Given the description of an element on the screen output the (x, y) to click on. 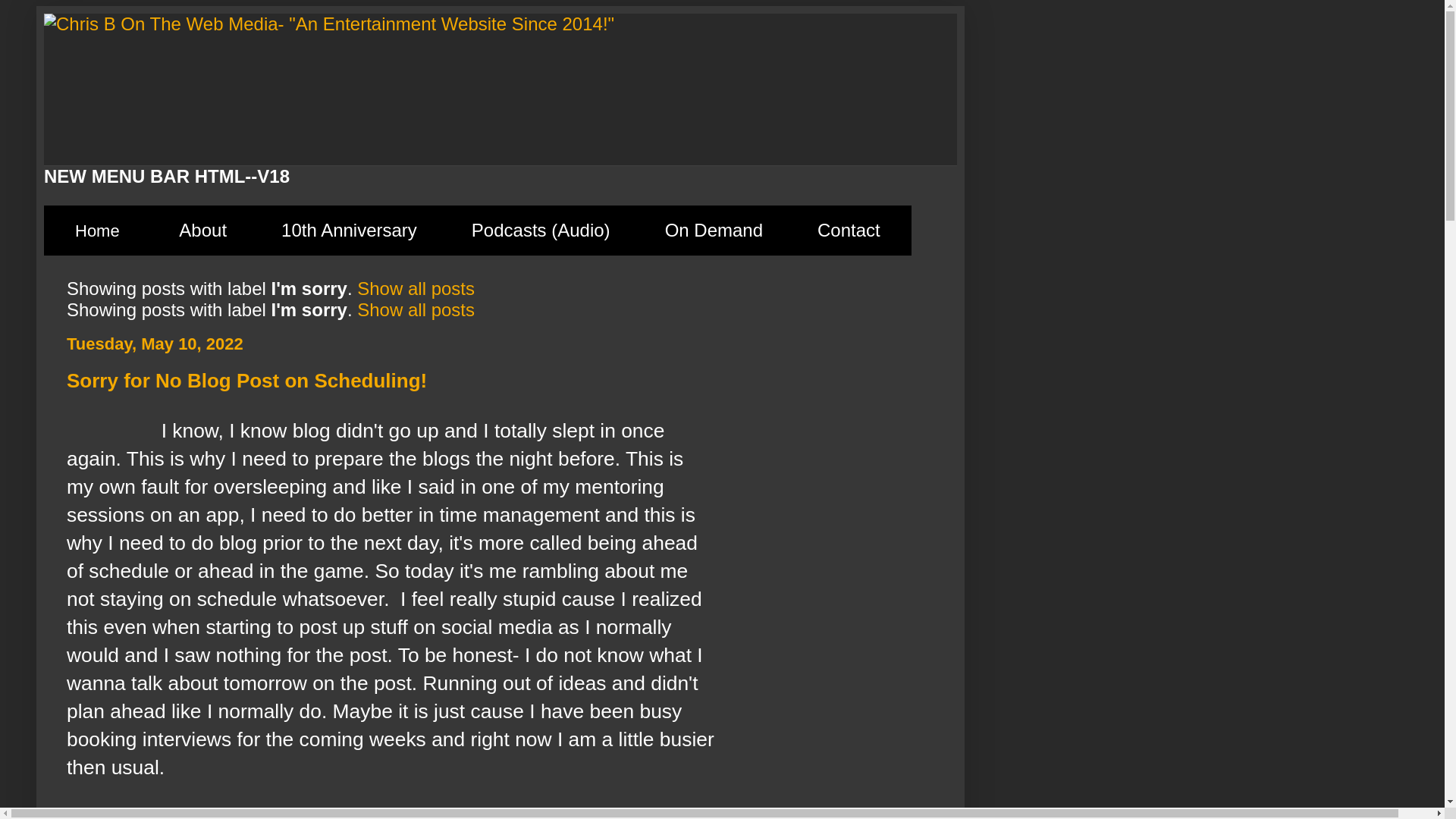
Show all posts (415, 309)
Home (97, 230)
Show all posts (415, 288)
Sorry for No Blog Post on Scheduling! (246, 380)
